Given the description of an element on the screen output the (x, y) to click on. 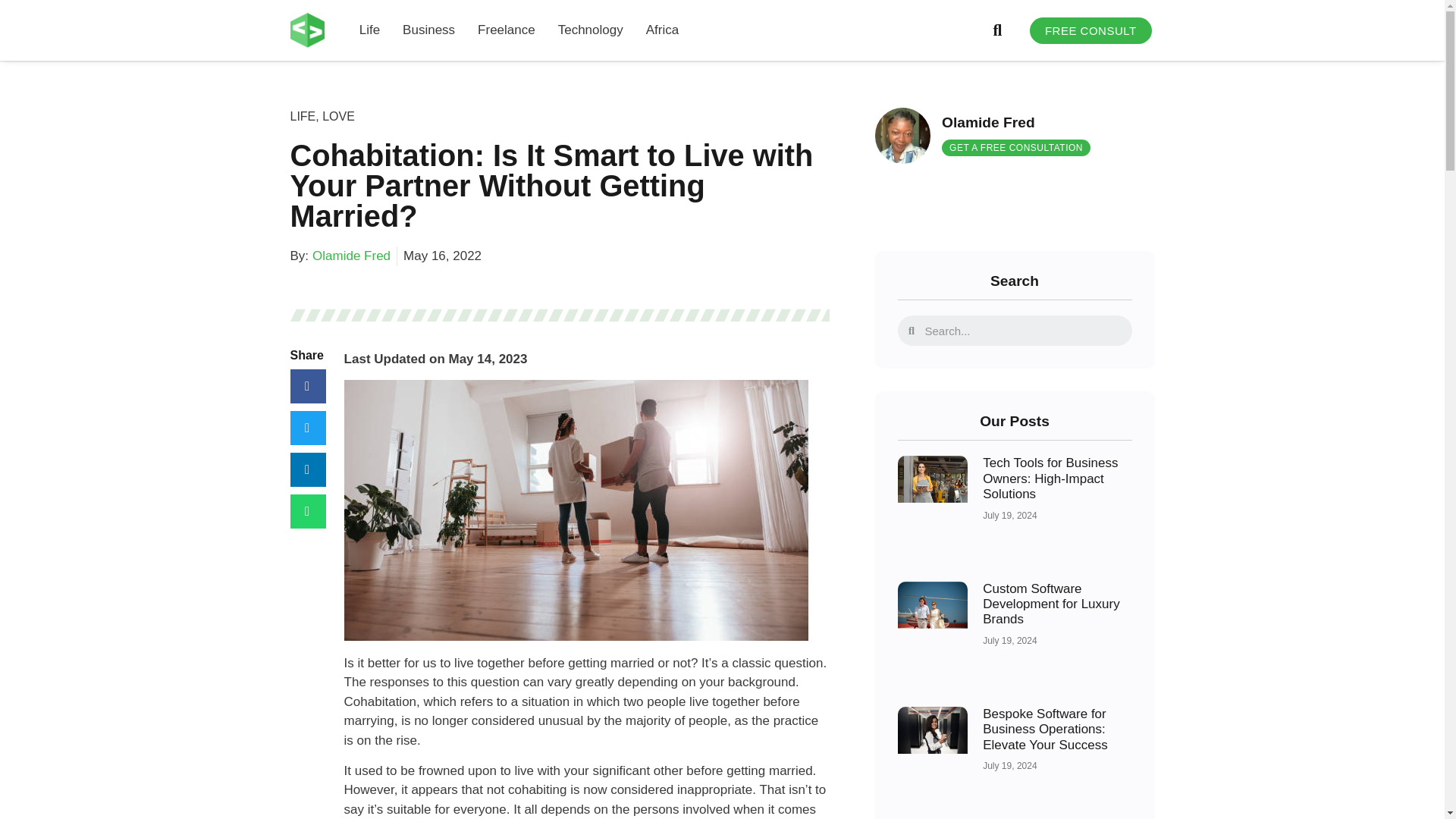
FREE CONSULT (1090, 29)
Africa (662, 29)
Freelance (506, 29)
Search (1022, 330)
Life (369, 29)
Technology (590, 29)
Business (428, 29)
